Given the description of an element on the screen output the (x, y) to click on. 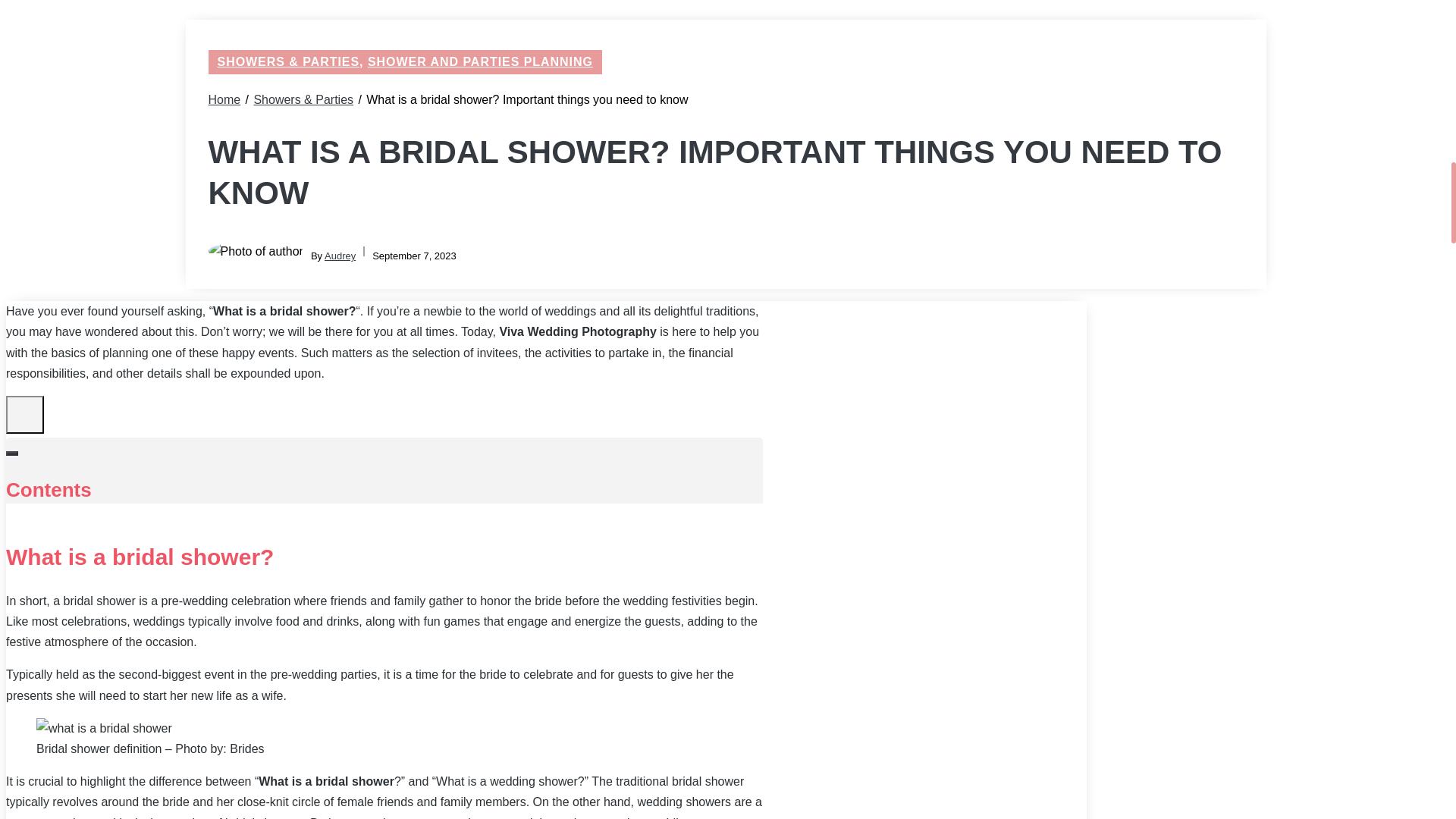
click To Maximize The Table Of Contents (24, 414)
